Given the description of an element on the screen output the (x, y) to click on. 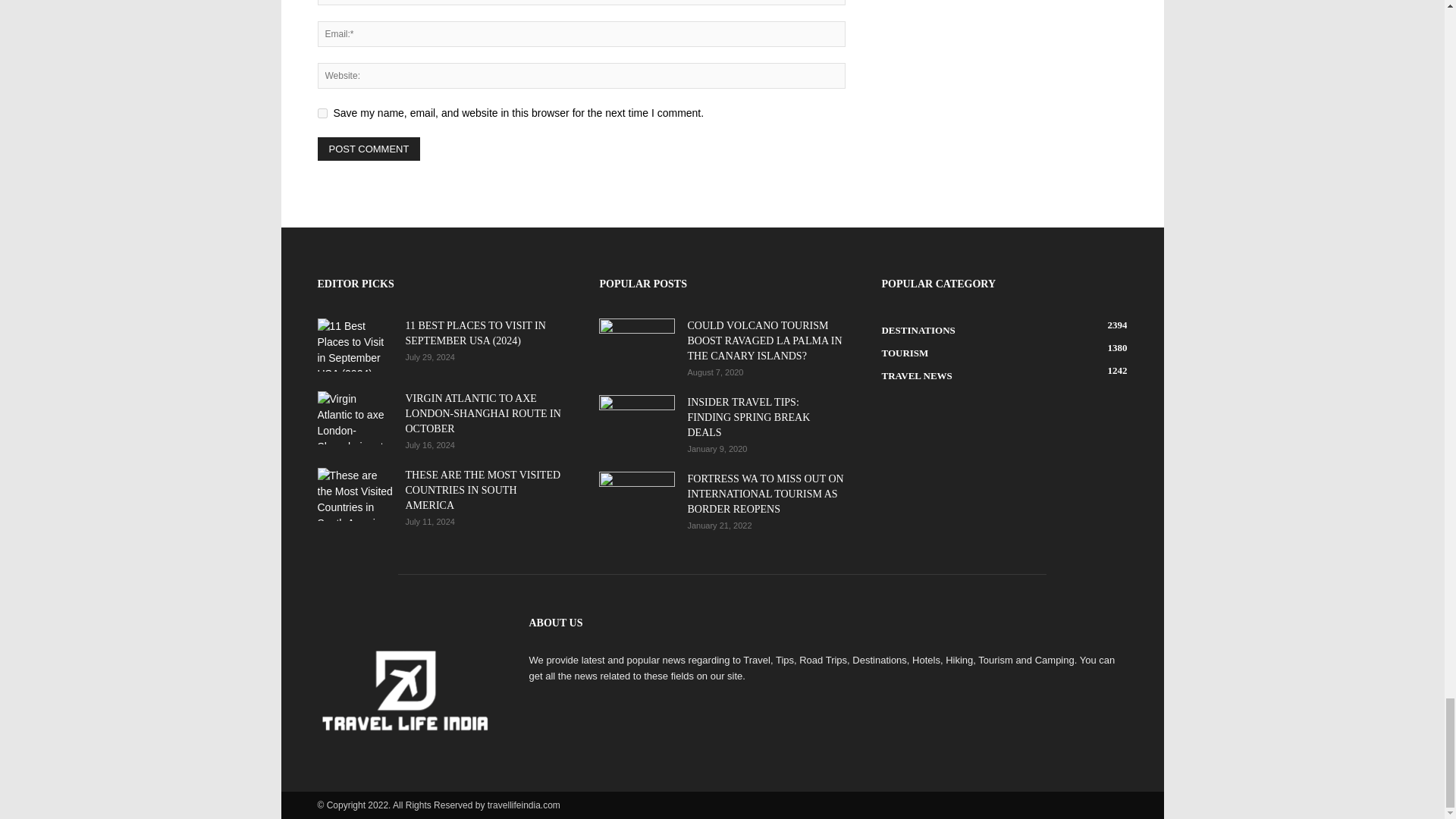
Post Comment (368, 148)
yes (321, 112)
